Given the description of an element on the screen output the (x, y) to click on. 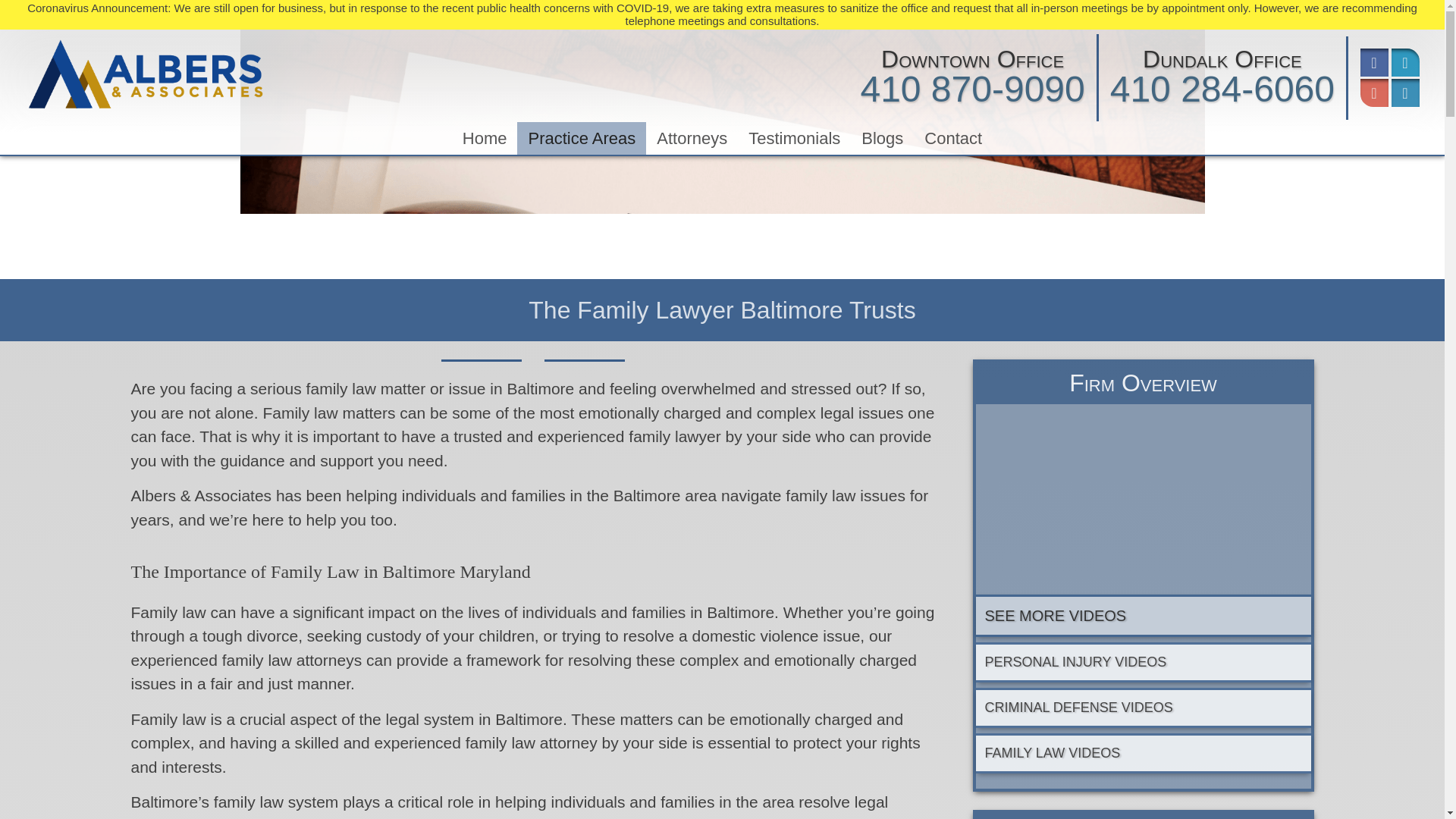
Practice Areas (581, 138)
Testimonials (794, 138)
Attorneys (692, 138)
410 870-9090 (972, 88)
410 284-6060 (1222, 88)
Home (484, 138)
